Given the description of an element on the screen output the (x, y) to click on. 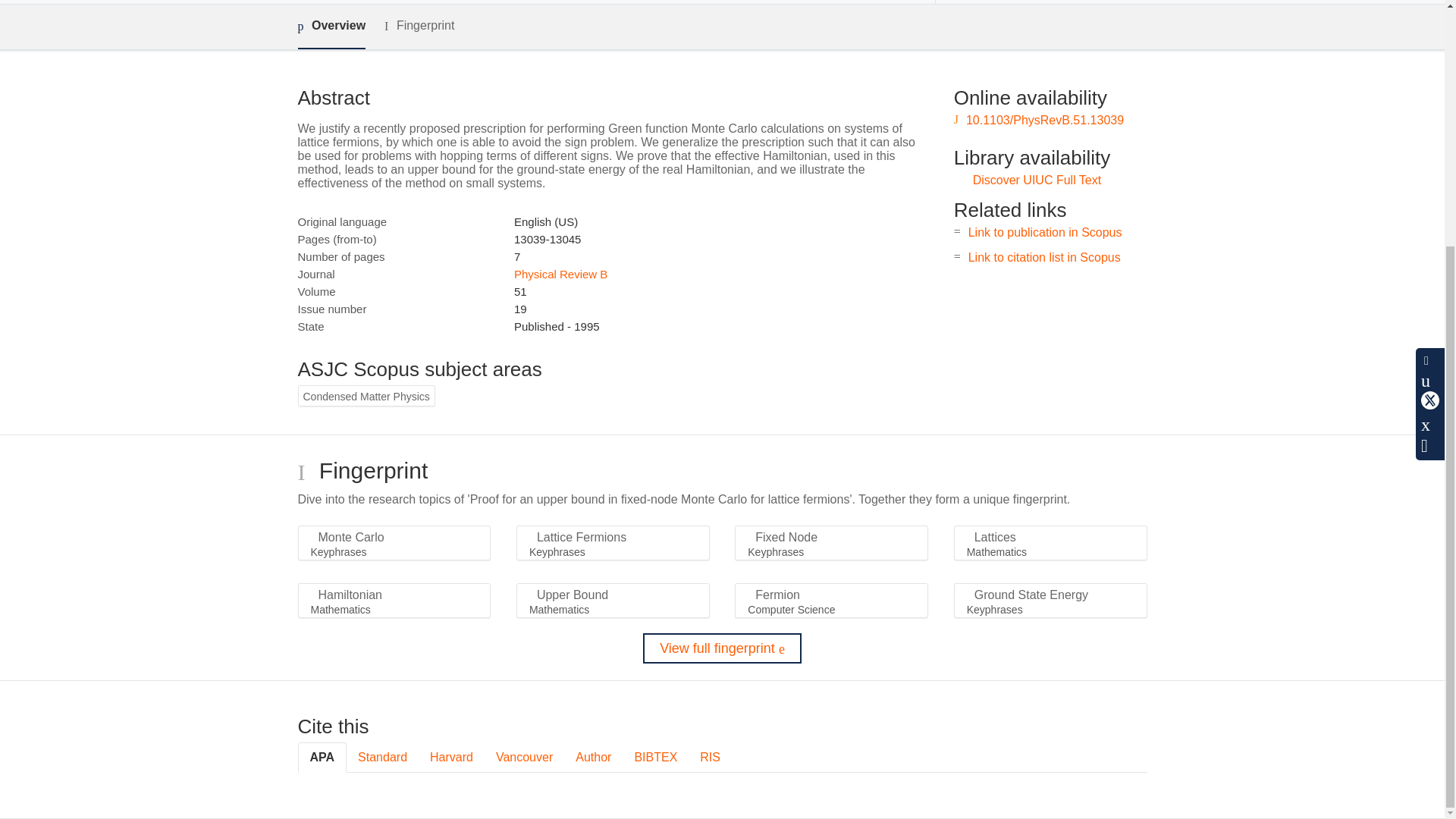
Discover UIUC Full Text (1037, 179)
Overview (331, 26)
Physical Review B (560, 273)
Fingerprint (419, 25)
View full fingerprint (722, 648)
Link to publication in Scopus (1045, 232)
Link to citation list in Scopus (1044, 256)
